Given the description of an element on the screen output the (x, y) to click on. 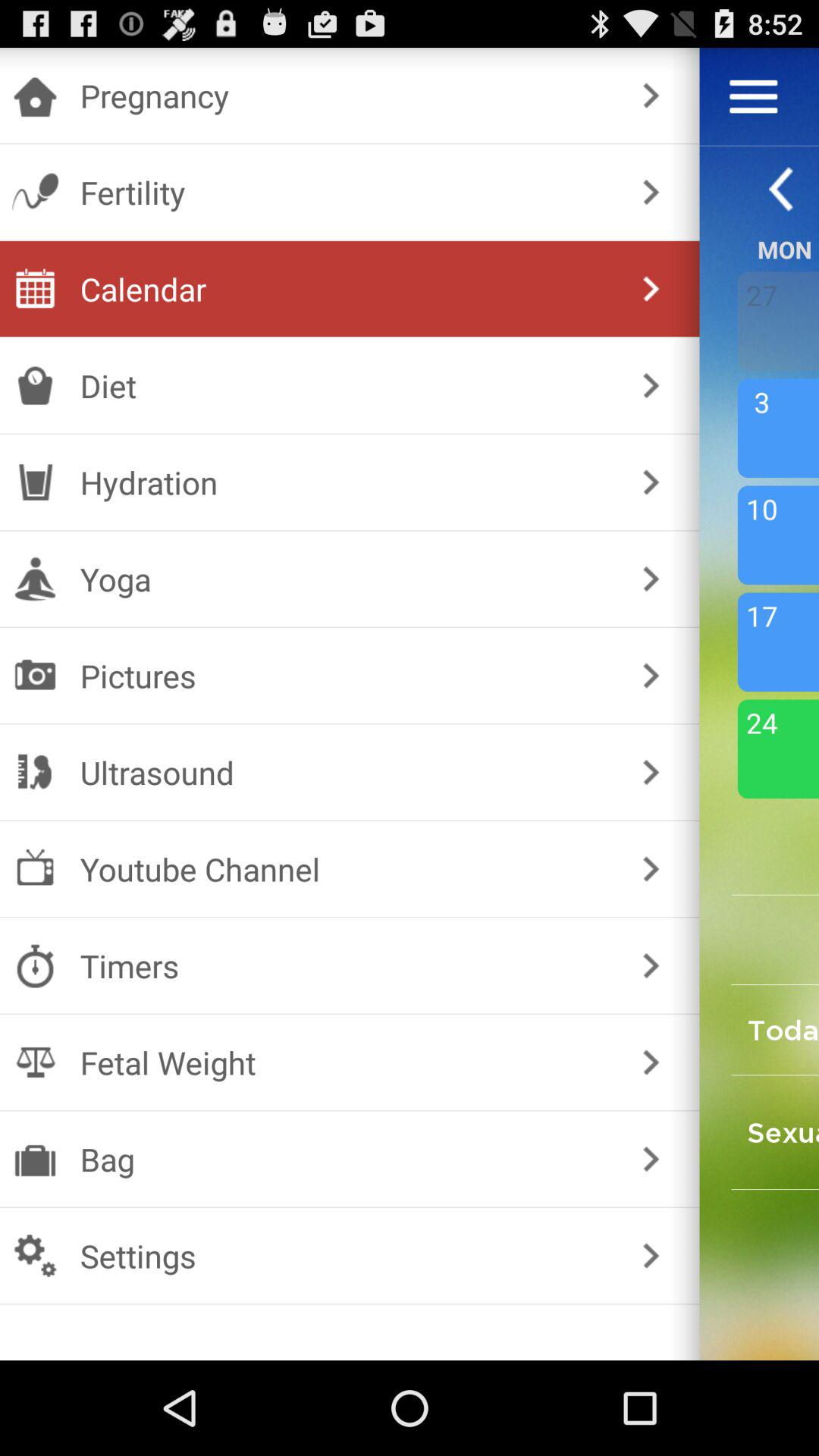
scroll until the hydration checkbox (346, 481)
